Given the description of an element on the screen output the (x, y) to click on. 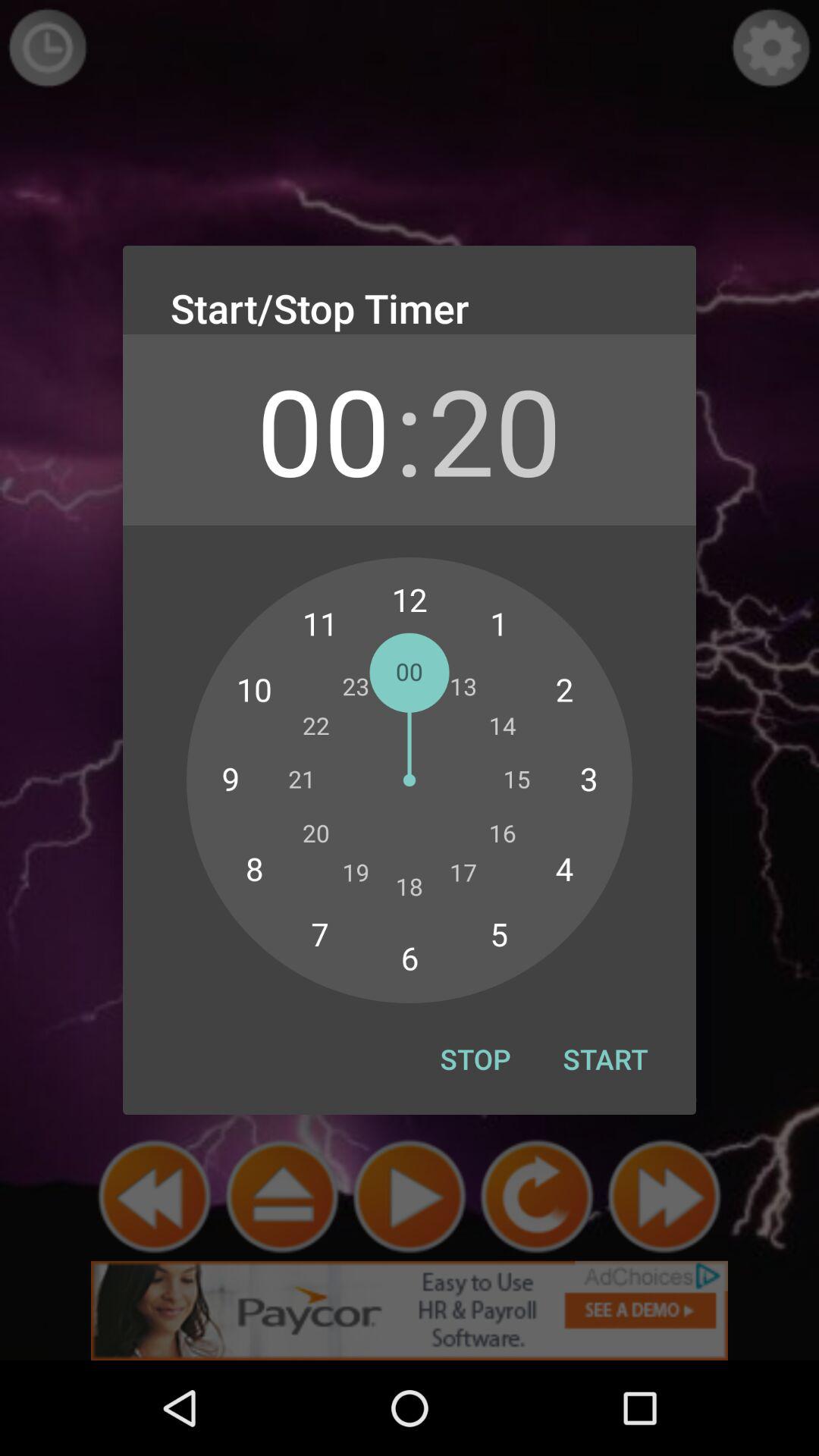
launch app to the left of : app (323, 429)
